Given the description of an element on the screen output the (x, y) to click on. 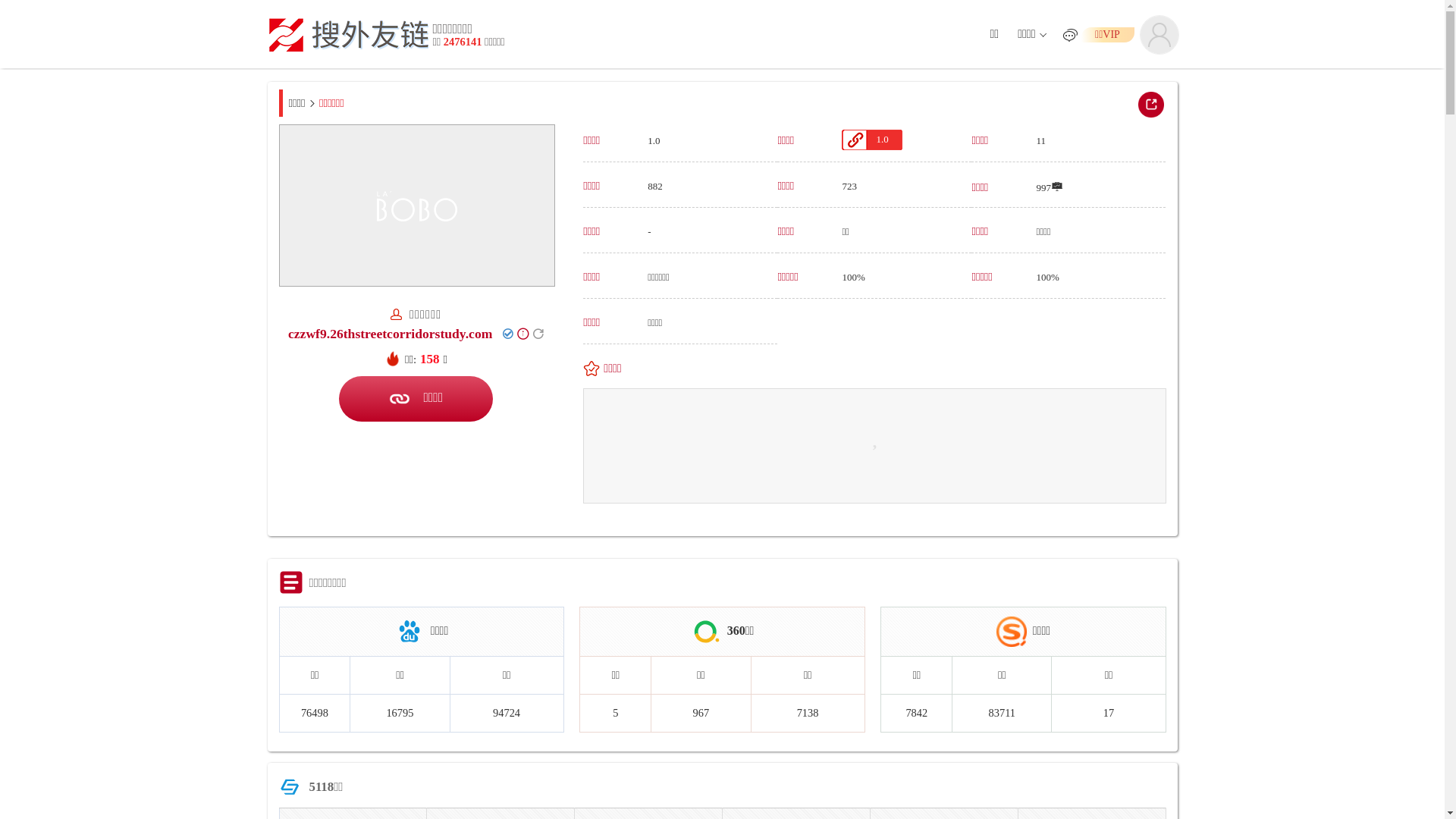
czzwf9.26thstreetcorridorstudy.com Element type: text (390, 333)
